Given the description of an element on the screen output the (x, y) to click on. 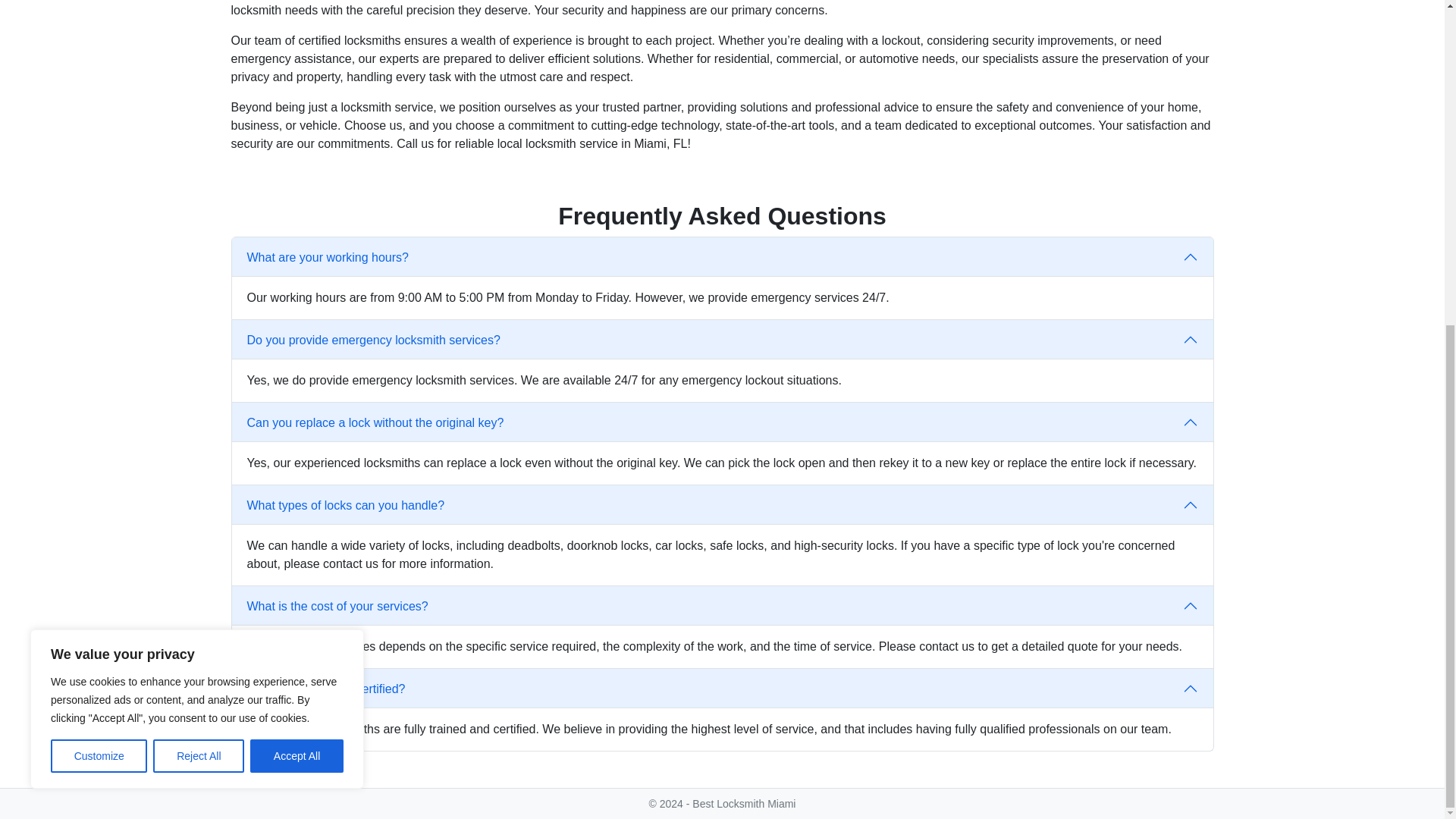
Accept All (296, 223)
Reject All (198, 223)
Customize (98, 223)
